Given the description of an element on the screen output the (x, y) to click on. 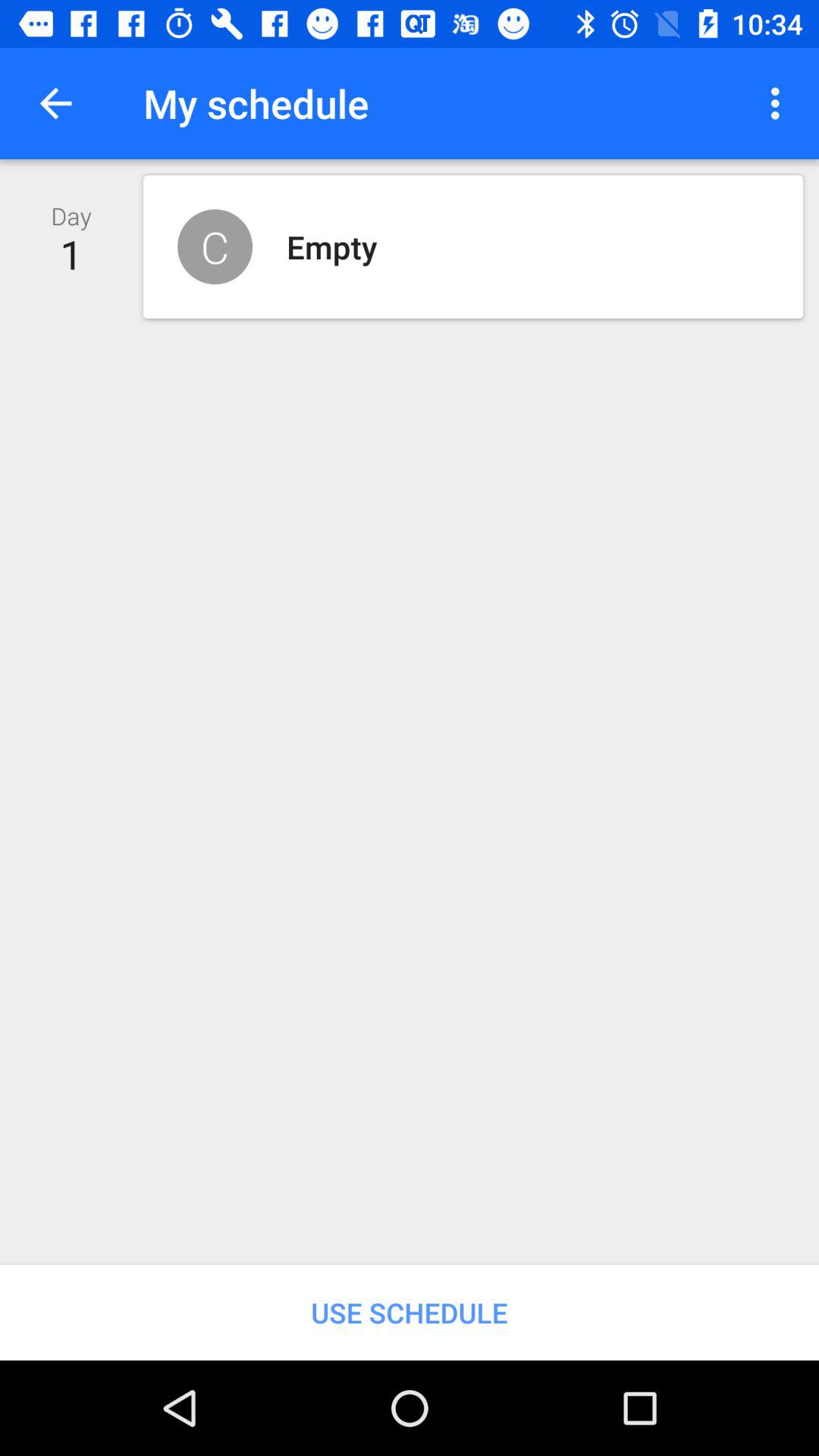
launch item below the empty (409, 1312)
